Given the description of an element on the screen output the (x, y) to click on. 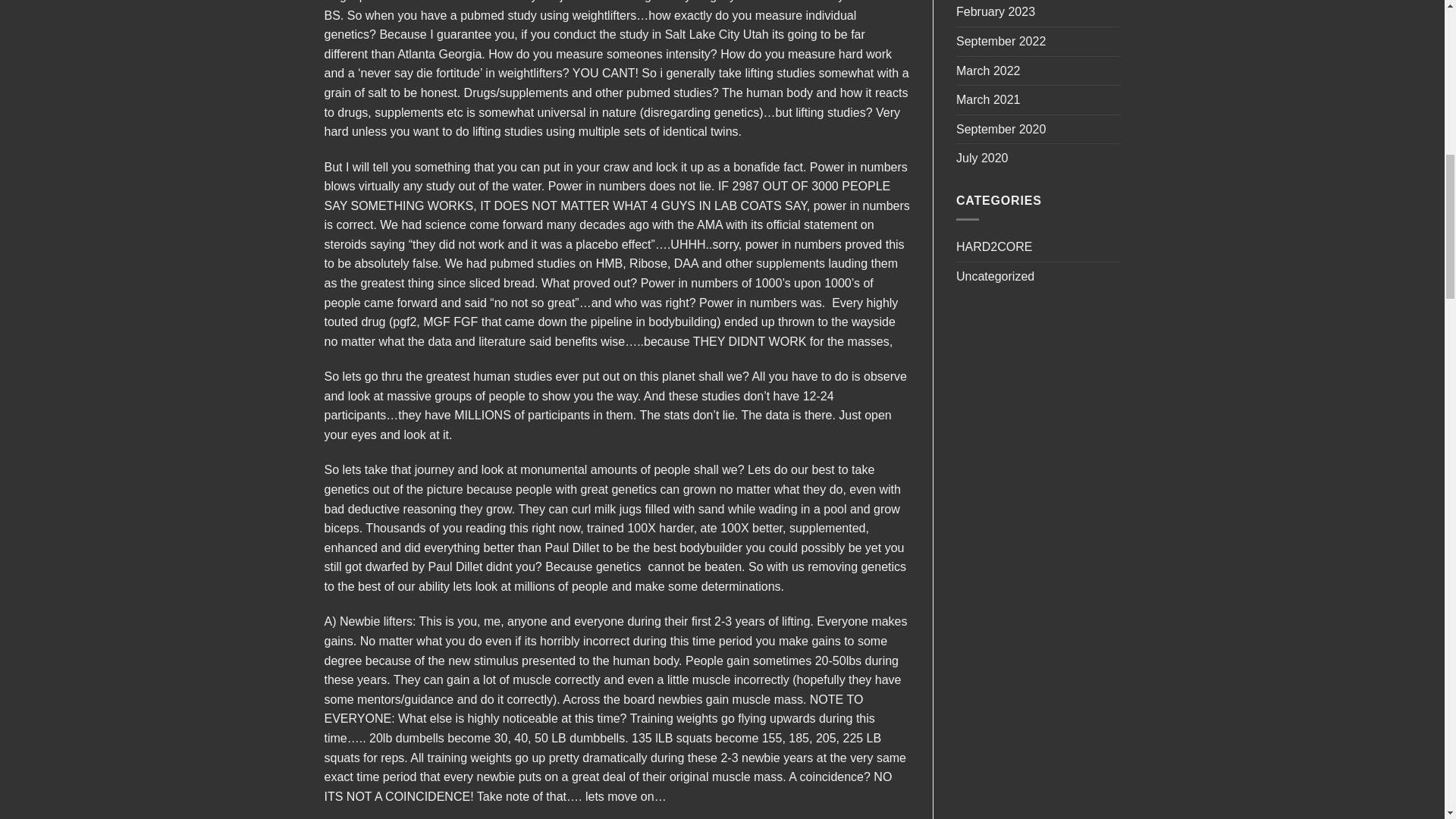
February 2023 (995, 13)
HARD2CORE (994, 246)
September 2020 (1000, 129)
September 2022 (1000, 41)
July 2020 (982, 158)
March 2022 (988, 70)
Uncategorized (994, 276)
March 2021 (988, 99)
